Given the description of an element on the screen output the (x, y) to click on. 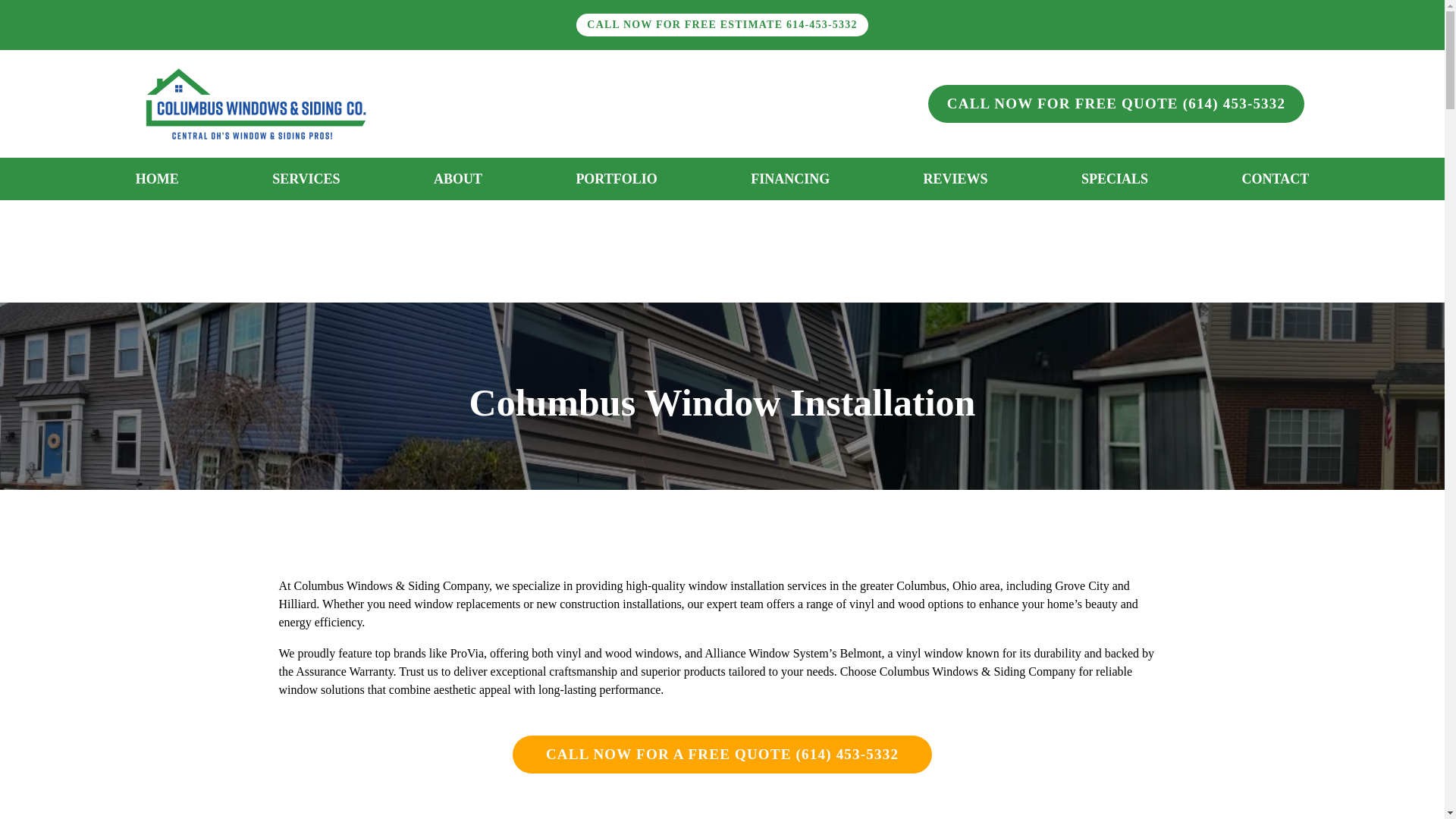
Contact (721, 24)
Contact (1116, 103)
SERVICES (305, 178)
CONTACT (1274, 178)
SPECIALS (1115, 178)
FINANCING (789, 178)
ABOUT (457, 178)
Contact (721, 754)
CALL NOW FOR FREE ESTIMATE 614-453-5332 (721, 24)
HOME (157, 178)
REVIEWS (955, 178)
PORTFOLIO (615, 178)
